Given the description of an element on the screen output the (x, y) to click on. 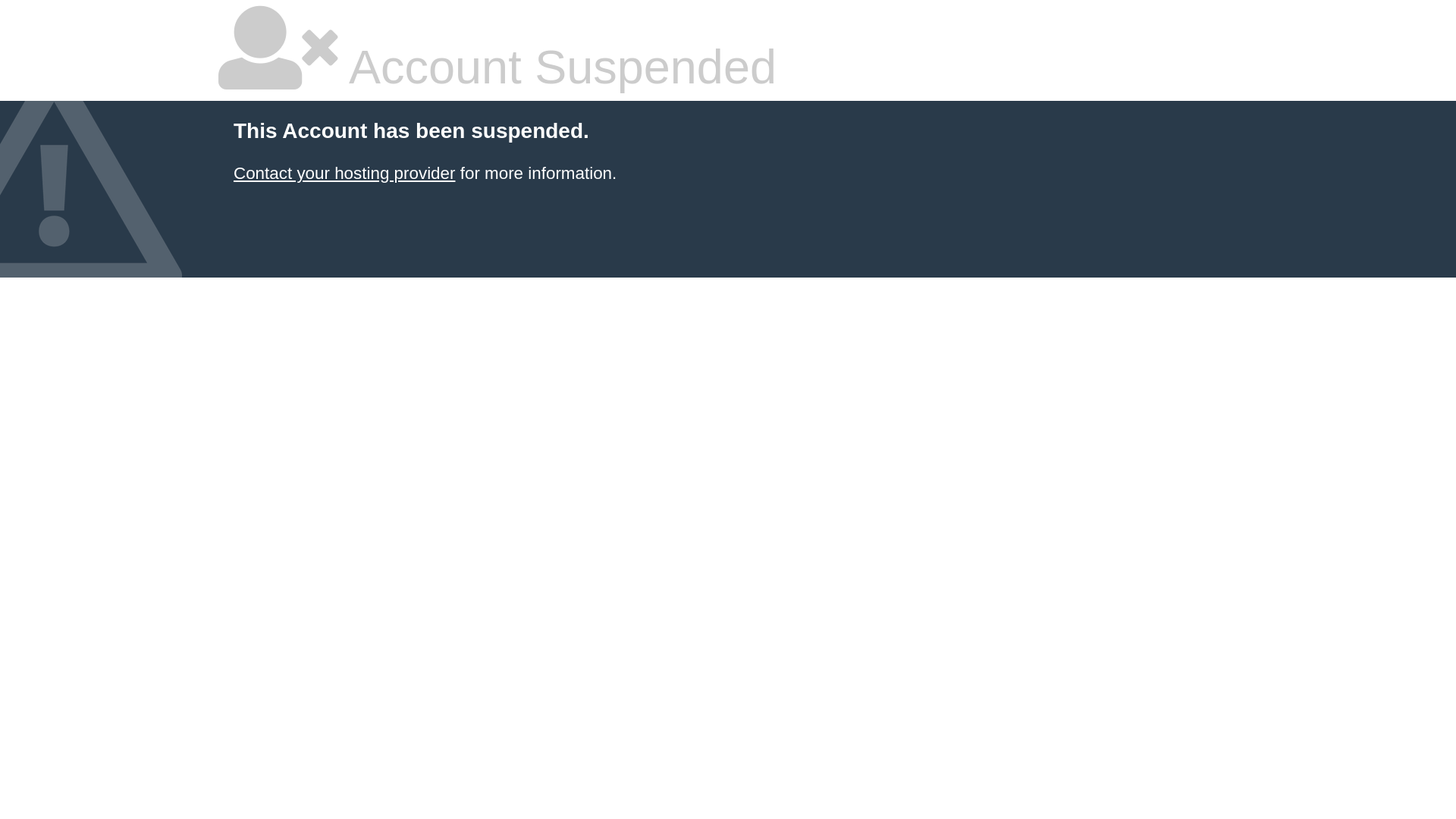
Contact your hosting provider Element type: text (344, 172)
